Given the description of an element on the screen output the (x, y) to click on. 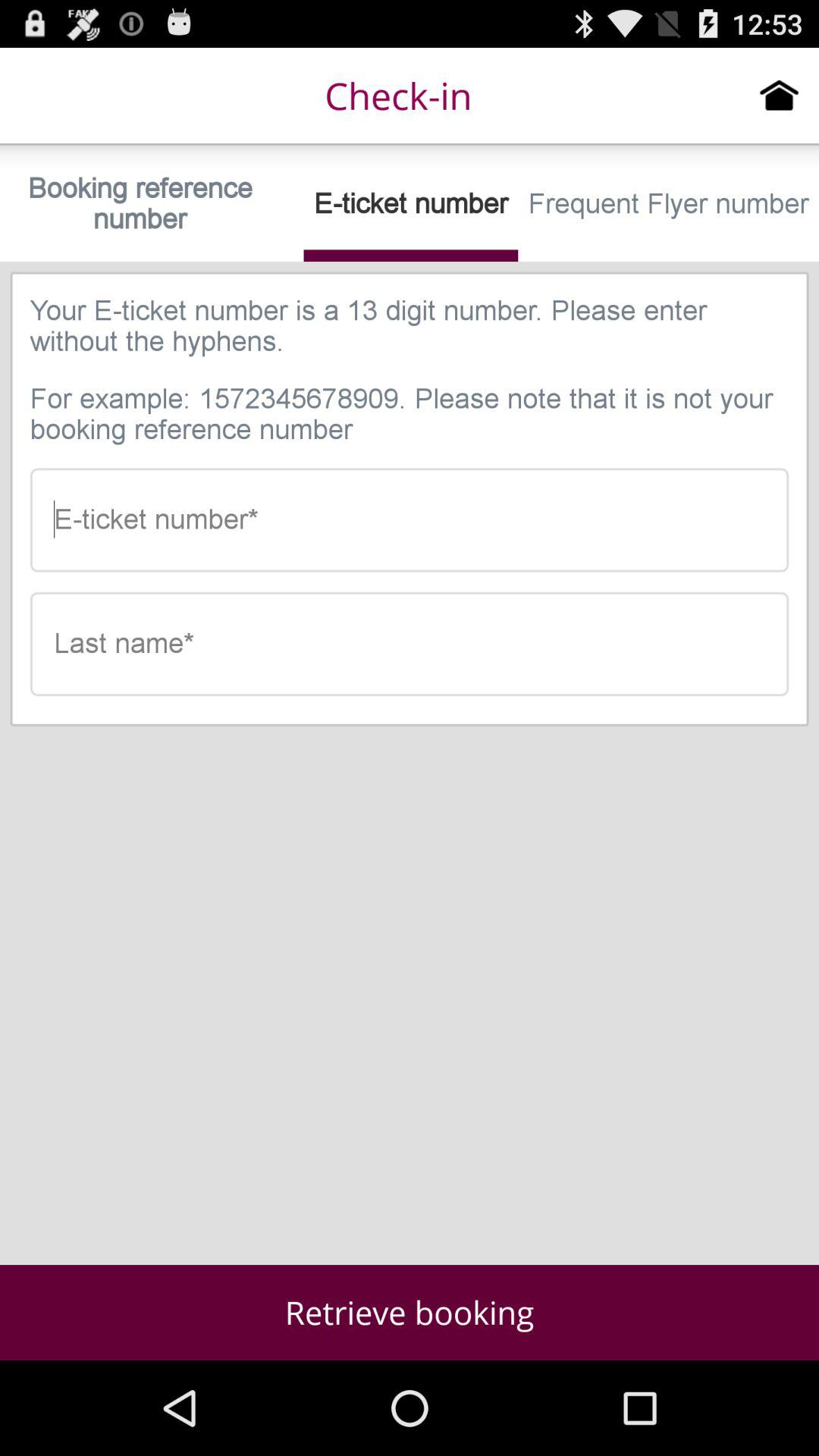
swipe to frequent flyer number (668, 203)
